Given the description of an element on the screen output the (x, y) to click on. 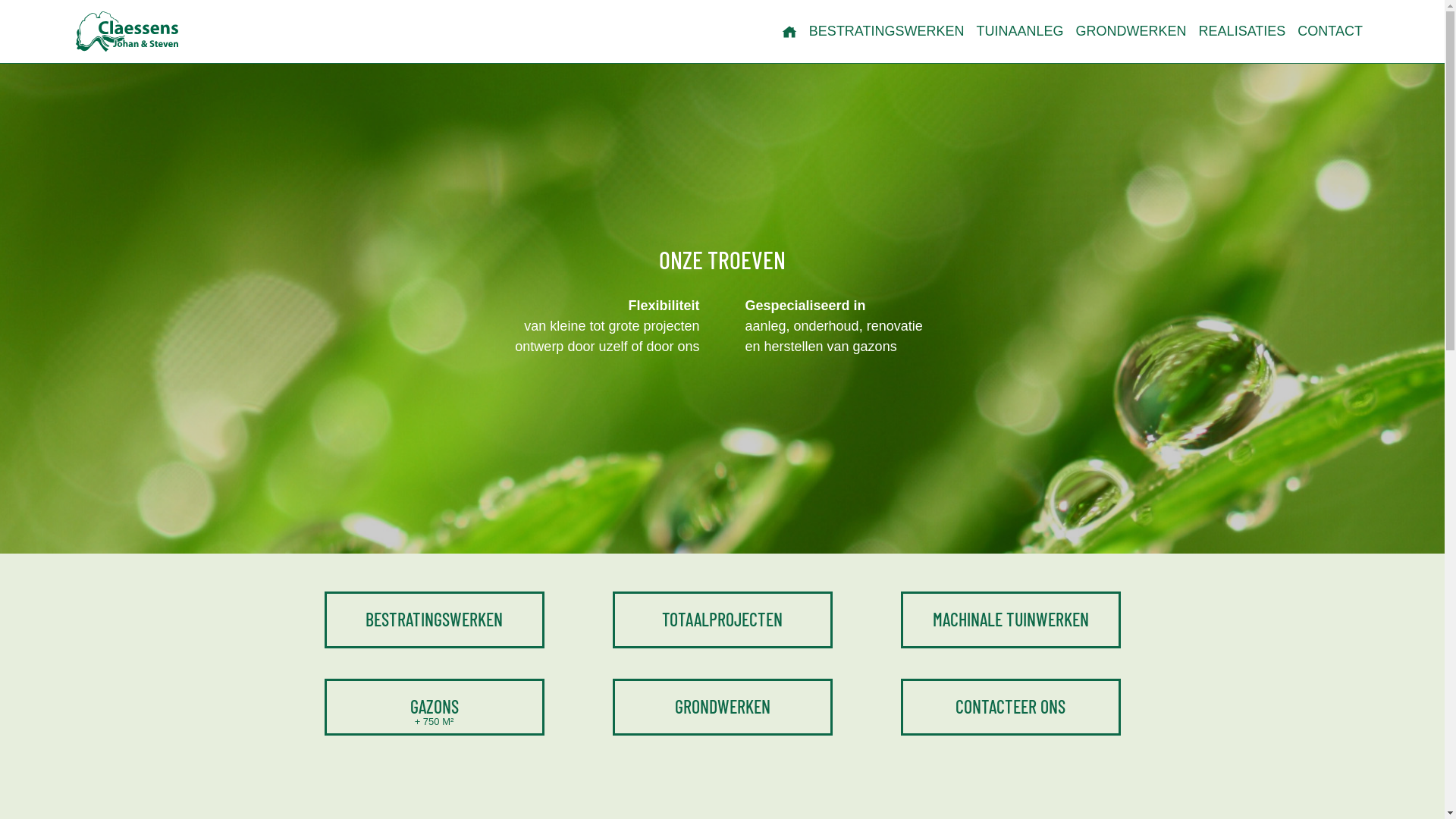
CONTACTEER ONS Element type: text (1010, 706)
TUINAANLEG Element type: text (1020, 31)
REALISATIES Element type: text (1242, 31)
GRONDWERKEN Element type: text (722, 706)
BESTRATINGSWERKEN Element type: text (886, 31)
TOTAALPROJECTEN Element type: text (722, 619)
GRONDWERKEN Element type: text (1131, 31)
home Element type: hover (789, 31)
Claessens Johan en Steven Element type: hover (126, 31)
CONTACT Element type: text (1329, 31)
MACHINALE TUINWERKEN Element type: text (1010, 619)
BESTRATINGSWERKEN Element type: text (434, 619)
